Given the description of an element on the screen output the (x, y) to click on. 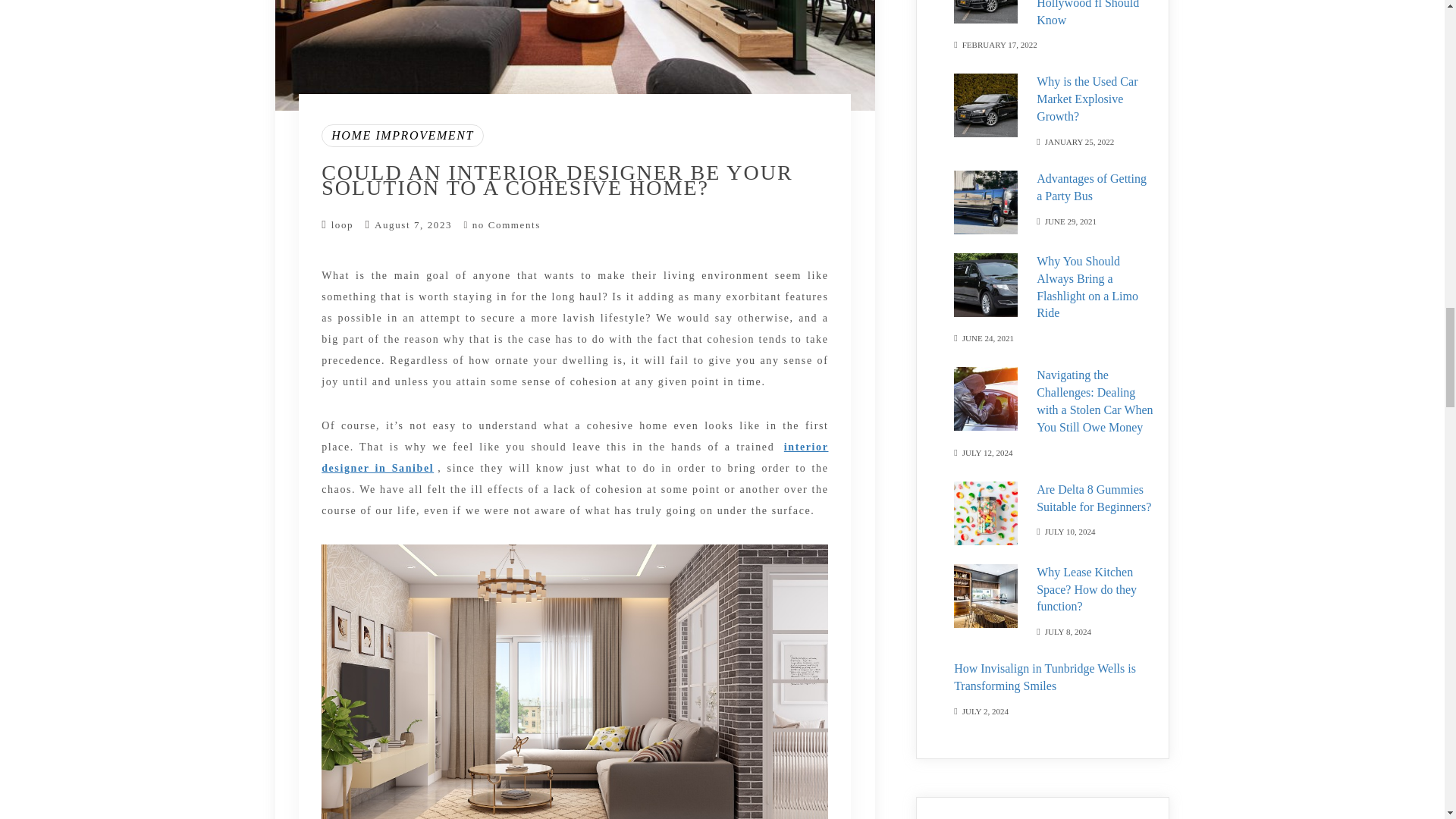
loop (342, 224)
August 7, 2023 (412, 224)
no Comments (502, 224)
Posts by loop (342, 224)
HOME IMPROVEMENT (402, 135)
interior designer in Sanibel (574, 457)
